Given the description of an element on the screen output the (x, y) to click on. 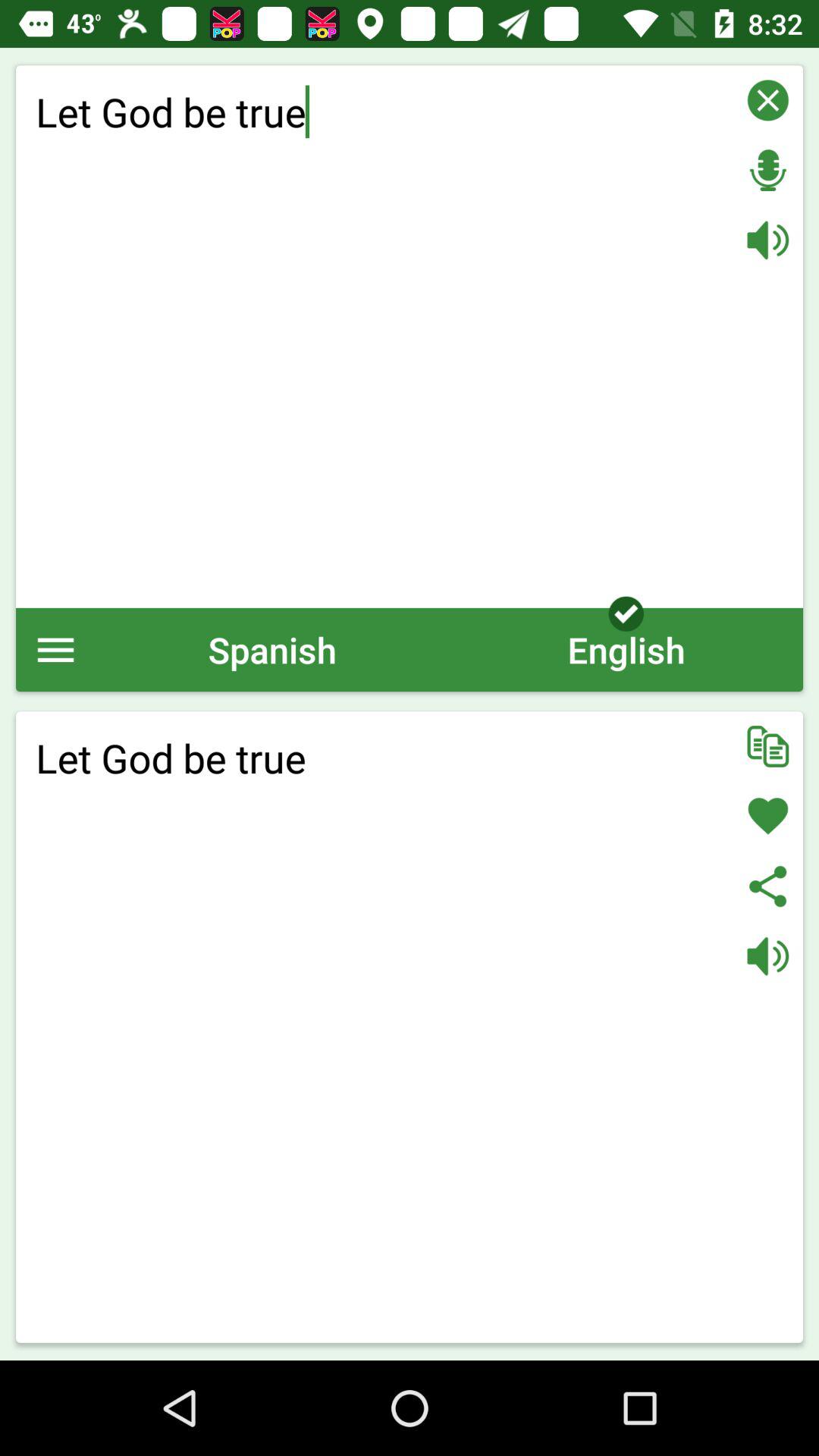
copy the text (768, 746)
